Given the description of an element on the screen output the (x, y) to click on. 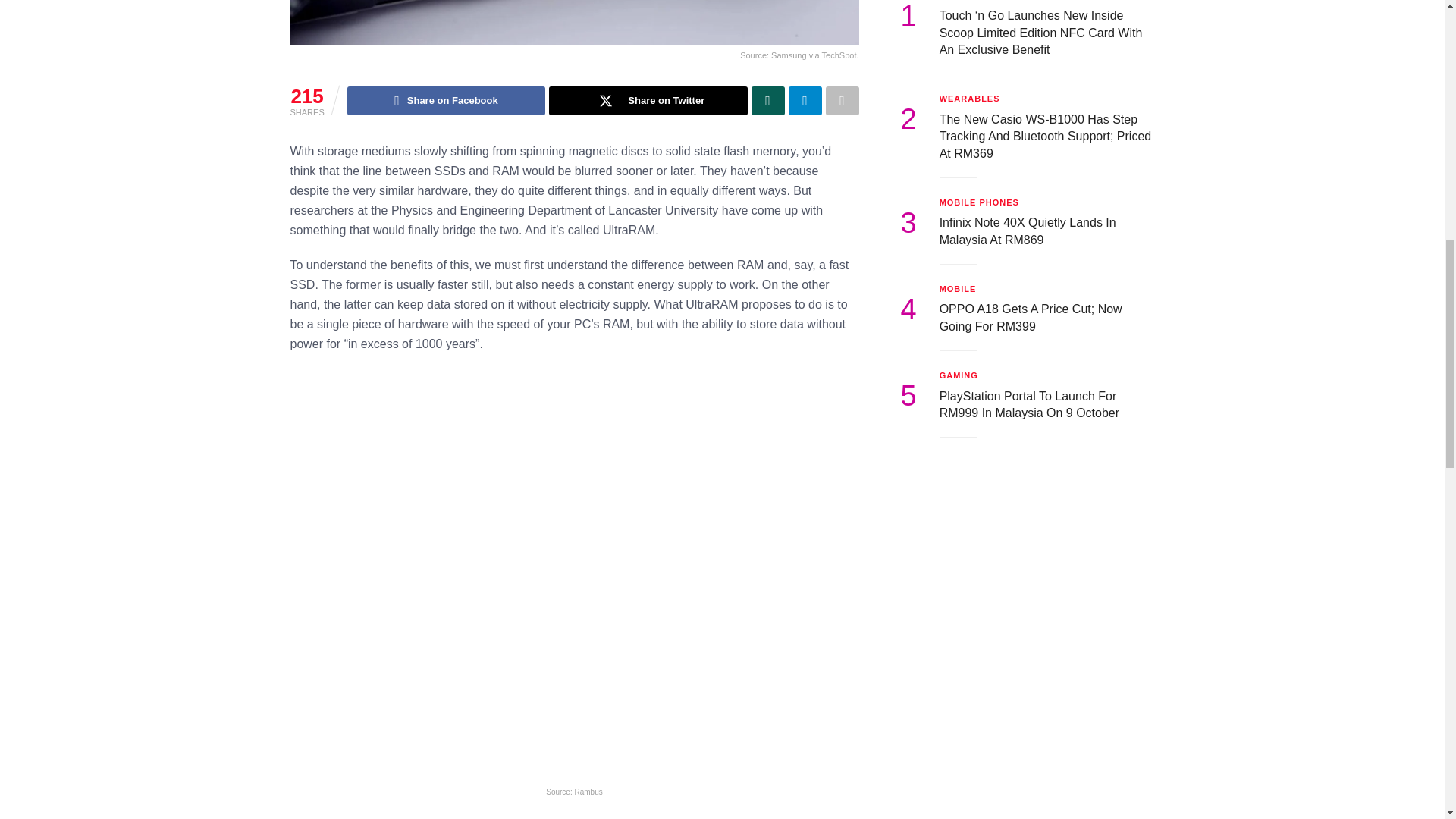
UltraRAM Combines RAM And Storage Into One 1 (574, 22)
